Given the description of an element on the screen output the (x, y) to click on. 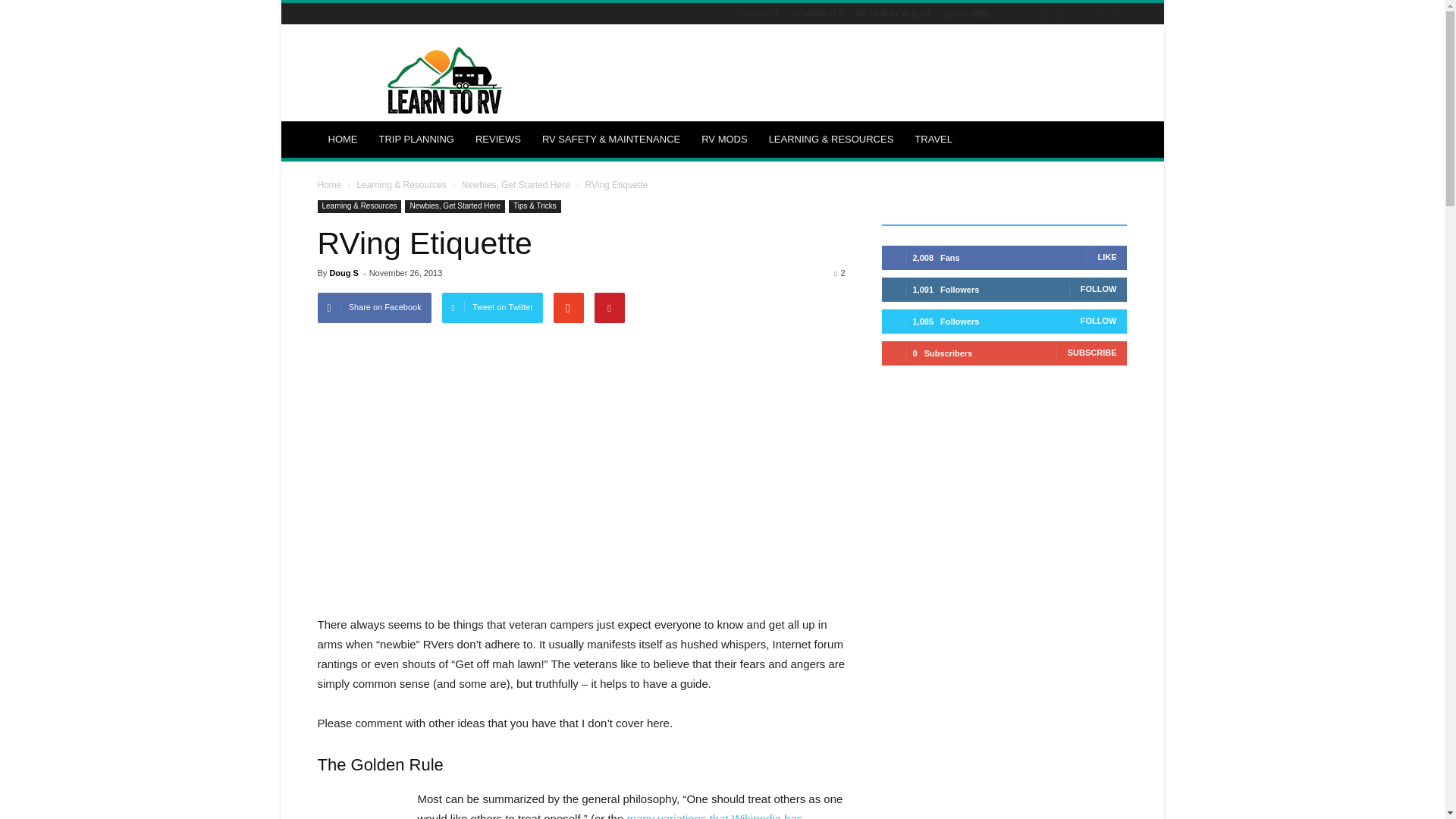
Twitter (1099, 13)
SUBSCRIBE (967, 13)
COMMUNITY (817, 13)
Instagram (1042, 13)
HOME (342, 139)
TRIP PLANNING (416, 139)
RSS (1080, 13)
RV TRAVEL AGENT (893, 13)
Youtube (1117, 13)
CONTACT (758, 13)
Pinterest (1061, 13)
Facebook (1023, 13)
